Given the description of an element on the screen output the (x, y) to click on. 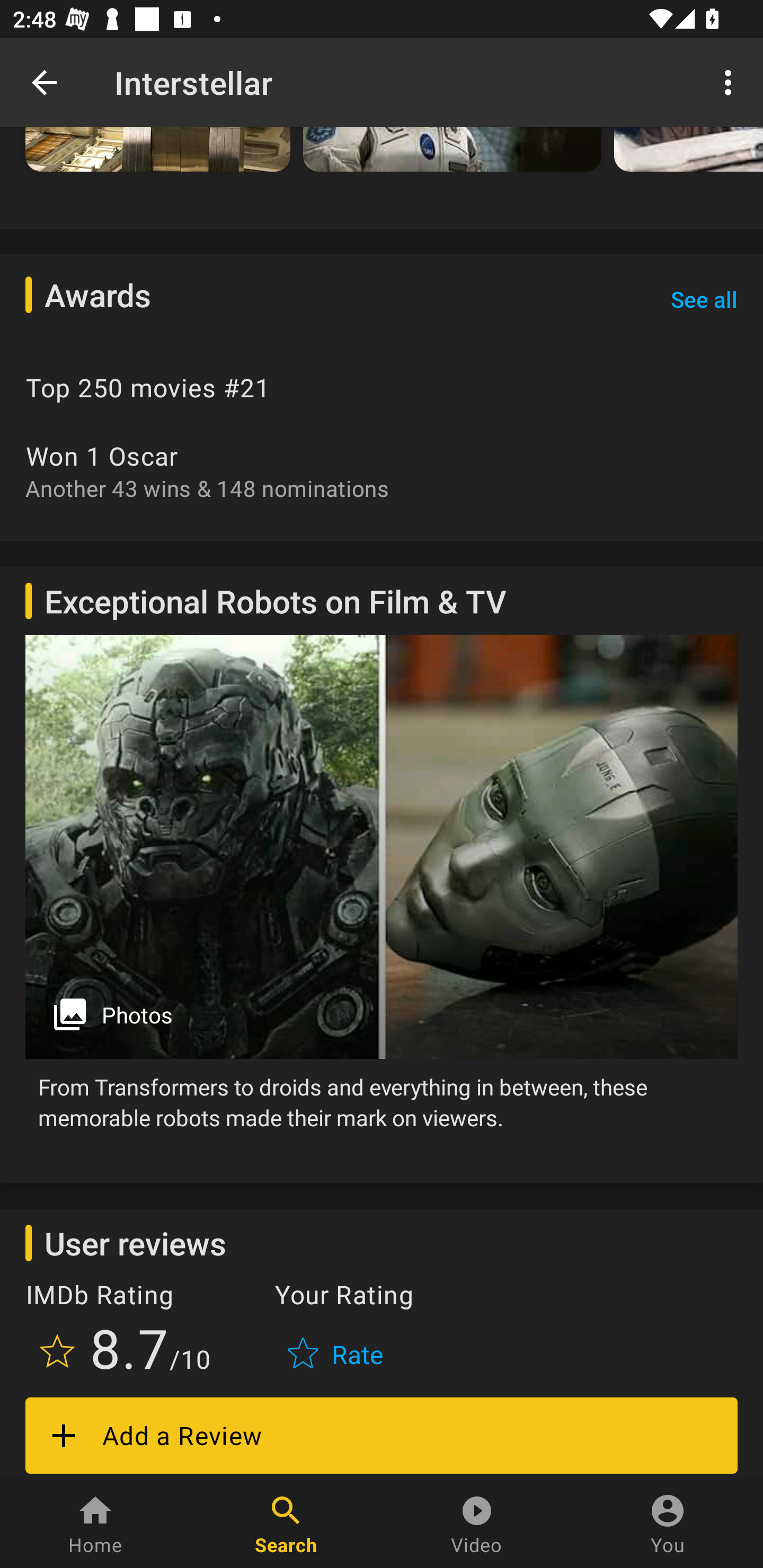
More options (731, 81)
See all See all Awards (703, 299)
Top 250 movies #21 (381, 387)
Won 1 Oscar Another 43 wins & 148 nominations (381, 470)
Your Rating Rate (337, 1330)
Add a Review (381, 1435)
Home (95, 1523)
Video (476, 1523)
You (667, 1523)
